Given the description of an element on the screen output the (x, y) to click on. 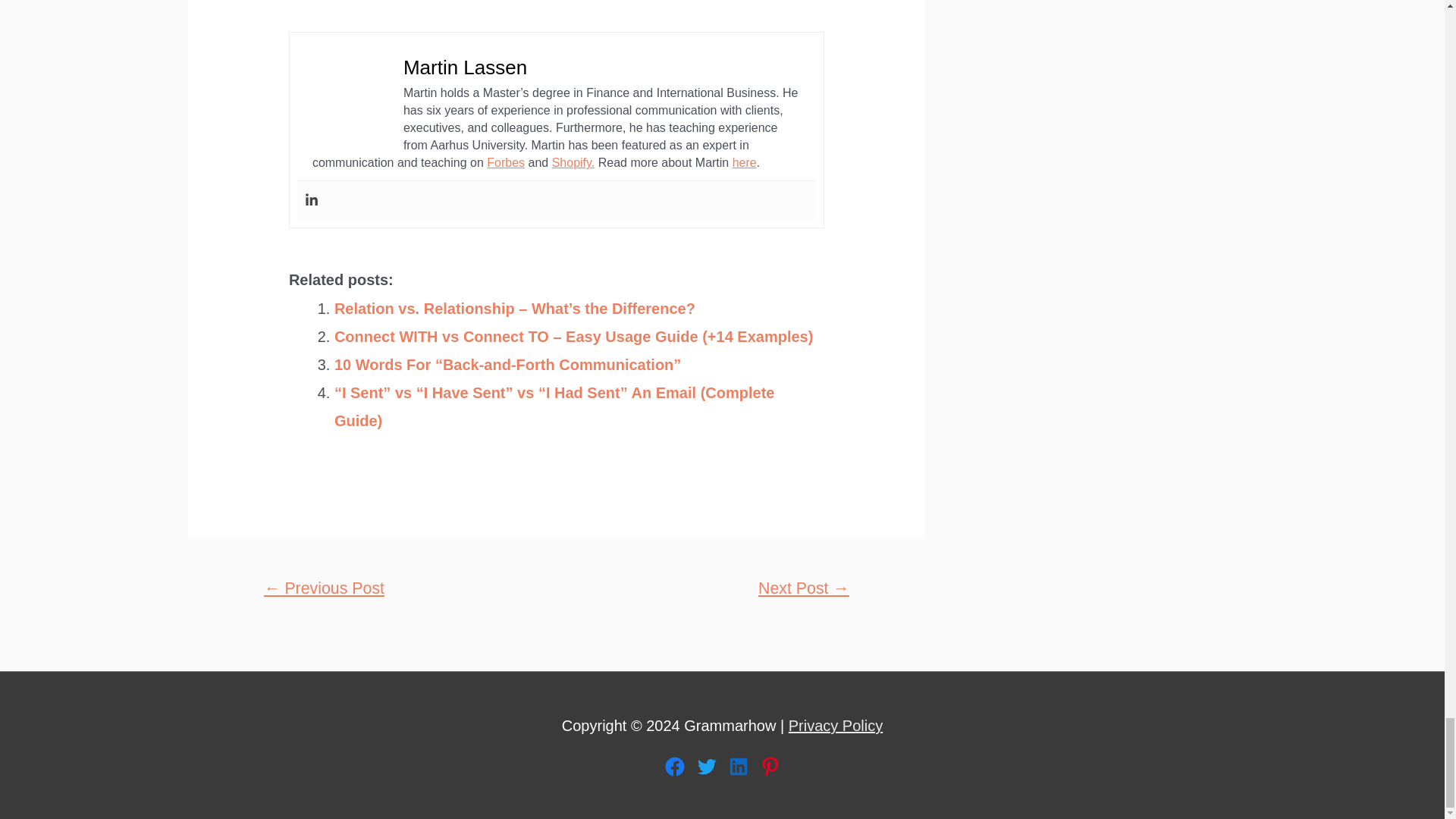
Facebook (673, 766)
Pinterest (769, 766)
Privacy Policy (835, 725)
Martin Lassen (465, 67)
Shopify. (573, 162)
Twitter (705, 766)
here (744, 162)
Forbes (505, 162)
LinkedIn (737, 766)
